Given the description of an element on the screen output the (x, y) to click on. 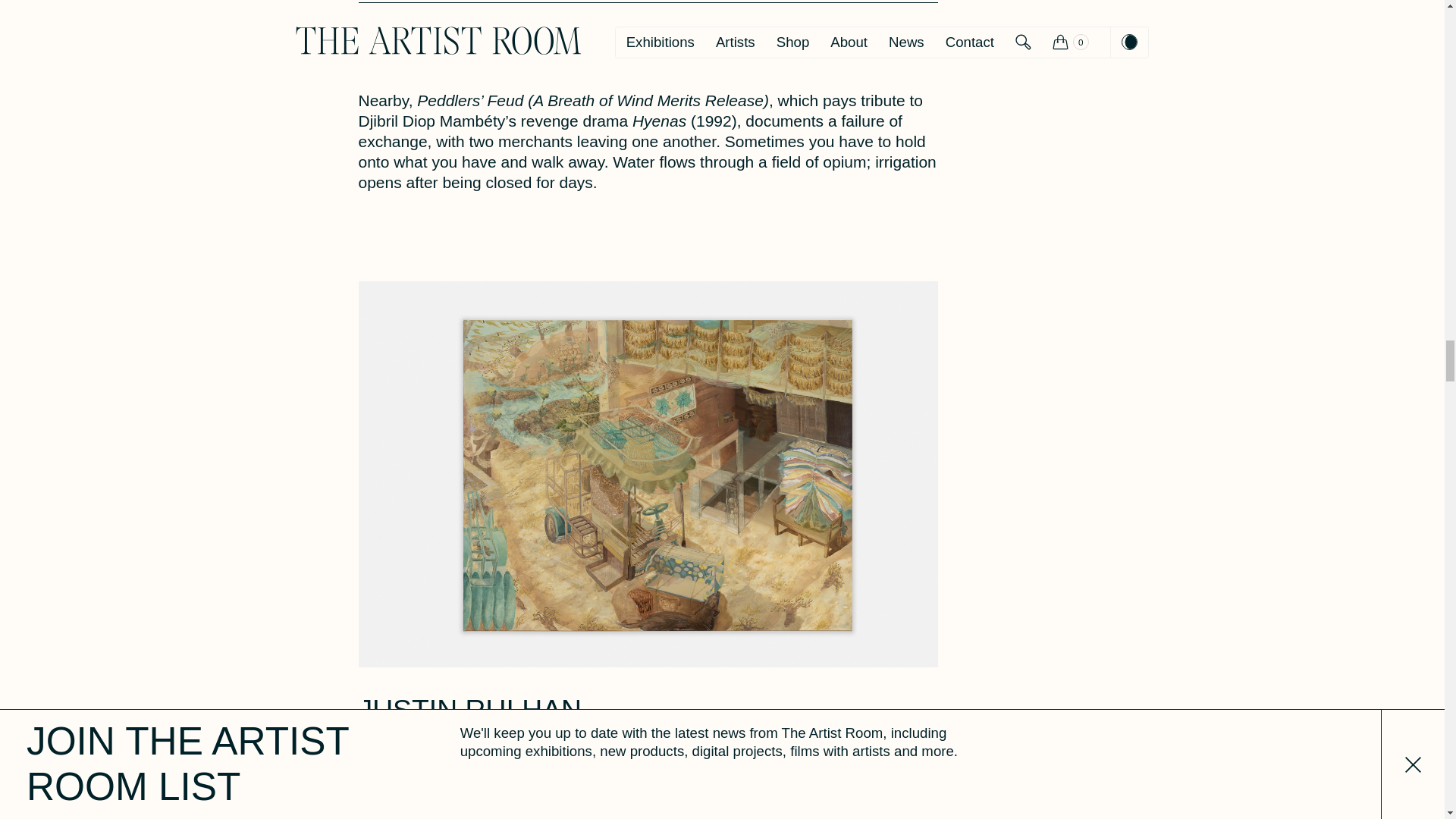
Page 2 (647, 141)
